Given the description of an element on the screen output the (x, y) to click on. 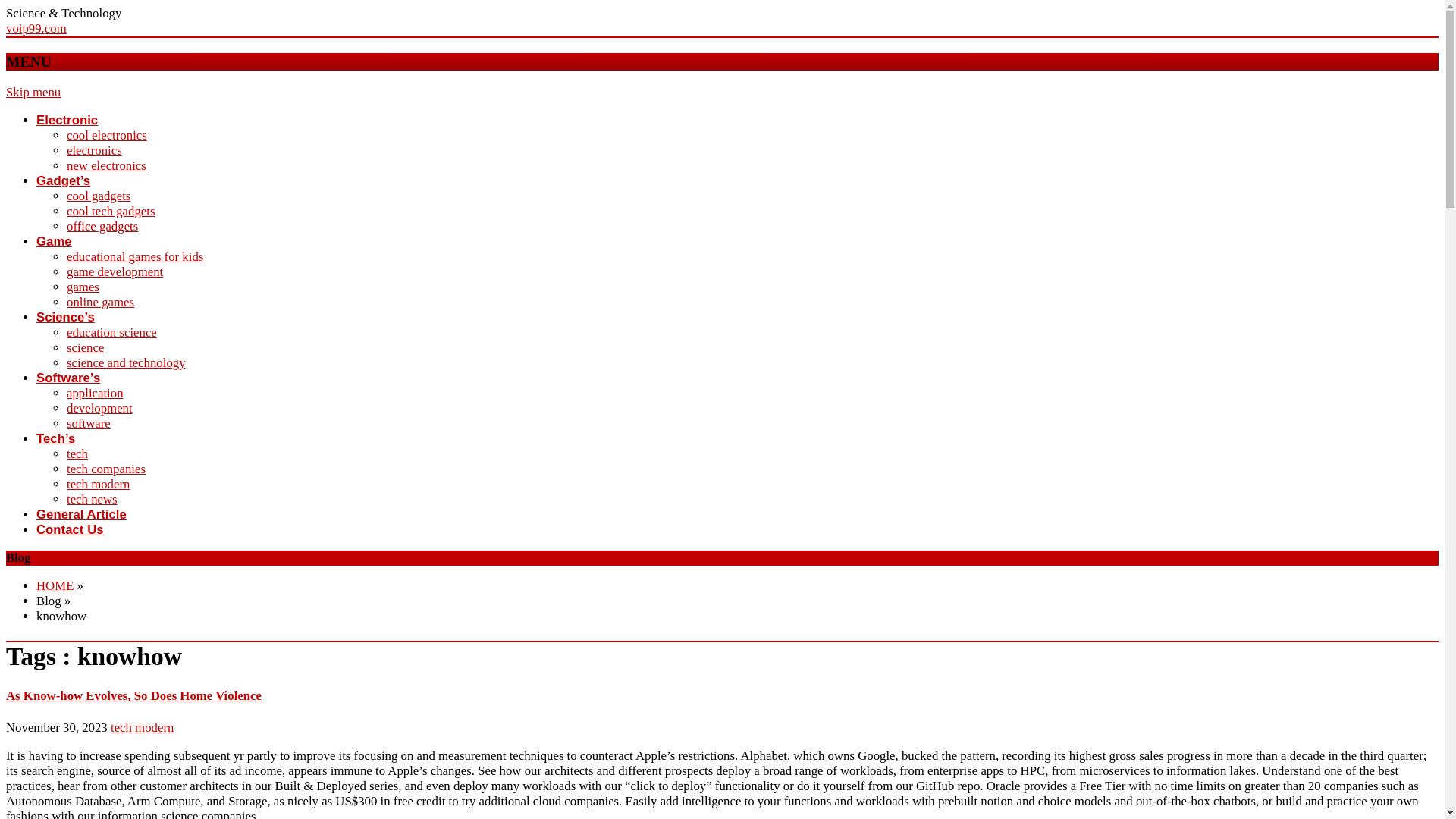
electronics (94, 150)
HOME (55, 585)
tech (76, 453)
development (99, 408)
Skip menu (33, 92)
games (82, 287)
application (94, 392)
voip99.com (35, 28)
As Know-how Evolves, So Does Home Violence (133, 695)
office gadgets (102, 226)
tech modern (141, 727)
Electronic (66, 120)
voip99.com (35, 28)
Skip menu (33, 92)
new electronics (106, 165)
